Given the description of an element on the screen output the (x, y) to click on. 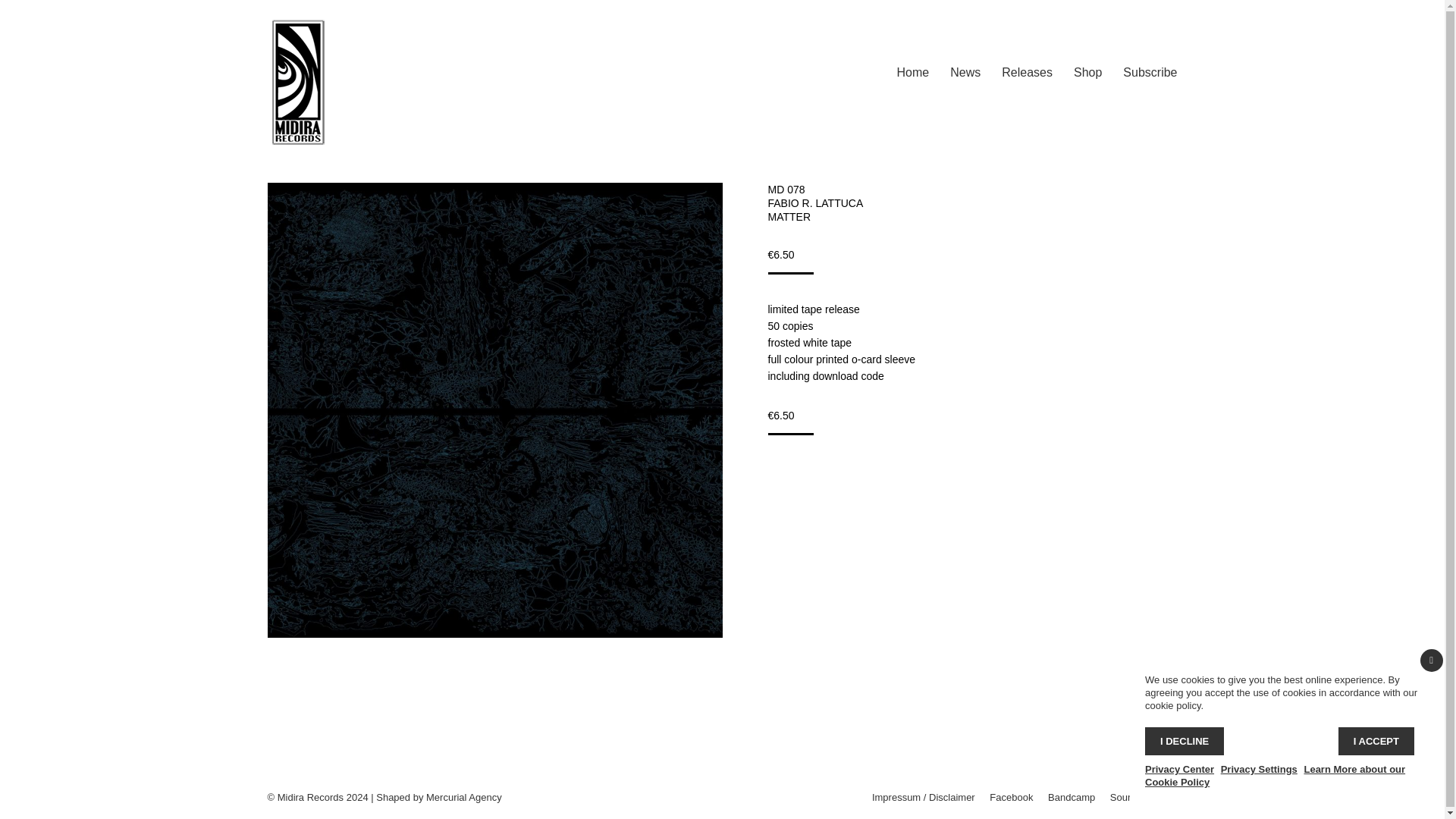
Mercurial Agency (464, 797)
Facebook (1011, 796)
Learn More about our Cookie Policy (1274, 775)
Privacy Settings (1259, 768)
I ACCEPT (1375, 741)
Soundcloud (1135, 796)
Bandcamp (1071, 796)
Privacy Center (1179, 768)
I DECLINE (1184, 741)
